Given the description of an element on the screen output the (x, y) to click on. 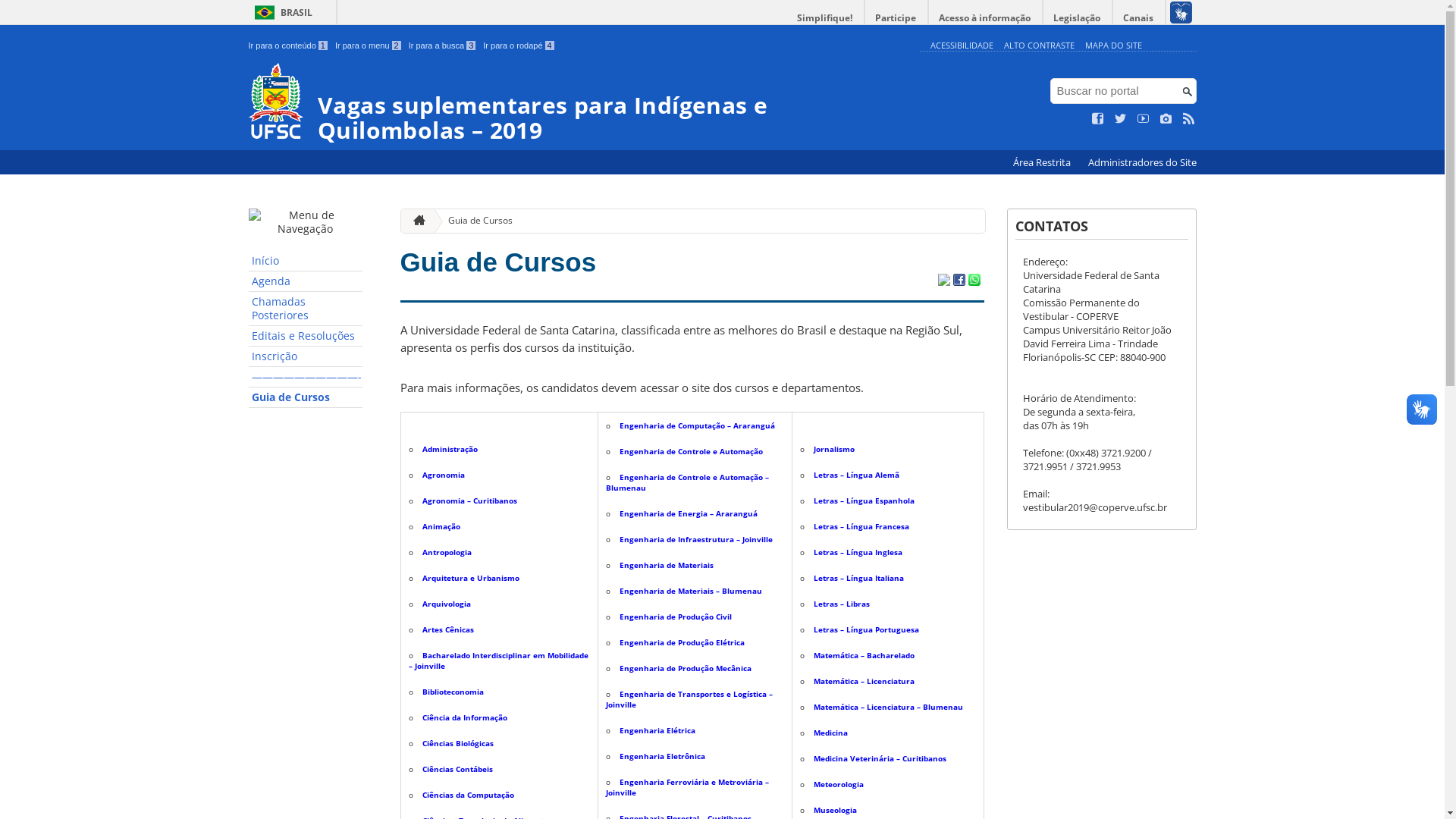
Compartilhar no Facebook Element type: hover (958, 280)
Guia de Cursos Element type: text (305, 397)
Chamadas Posteriores Element type: text (305, 308)
Engenharia de Materiais Element type: text (666, 564)
Veja no Instagram Element type: hover (1166, 118)
Siga no Twitter Element type: hover (1120, 118)
Antropologia Element type: text (445, 551)
MAPA DO SITE Element type: text (1112, 44)
Jornalismo Element type: text (833, 448)
Medicina Element type: text (830, 732)
Guia de Cursos Element type: text (498, 261)
ACESSIBILIDADE Element type: text (960, 44)
Biblioteconomia Element type: text (452, 691)
Agenda Element type: text (305, 281)
Arquivologia Element type: text (445, 603)
Arquitetura e Urbanismo Element type: text (469, 577)
Ir para o menu 2 Element type: text (368, 45)
ALTO CONTRASTE Element type: text (1039, 44)
Museologia Element type: text (834, 809)
Meteorologia Element type: text (838, 783)
Participe Element type: text (895, 18)
Curta no Facebook Element type: hover (1098, 118)
Simplifique! Element type: text (825, 18)
Ir para a busca 3 Element type: text (442, 45)
Canais Element type: text (1138, 18)
Guia de Cursos Element type: text (473, 220)
Compartilhar no Twitter Element type: hover (943, 280)
Administradores do Site Element type: text (1141, 162)
Compartilhar no WhatsApp Element type: hover (973, 280)
BRASIL Element type: text (280, 12)
Agronomia Element type: text (442, 474)
